Given the description of an element on the screen output the (x, y) to click on. 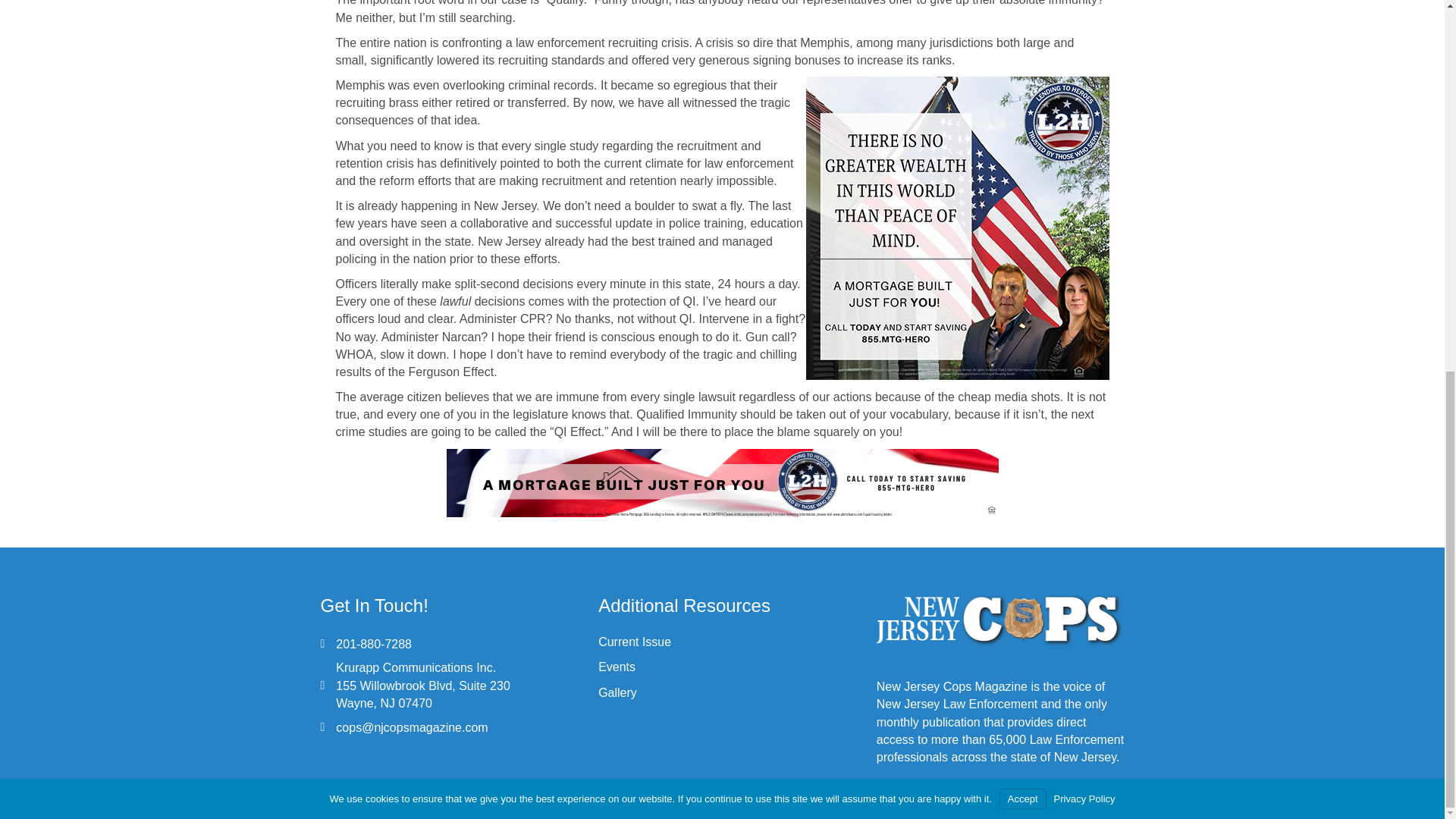
Current Issue (634, 641)
Events (616, 666)
Gallery (617, 692)
201-880-7288 (374, 644)
Privacy Policy (1084, 122)
Accept (1022, 123)
